Given the description of an element on the screen output the (x, y) to click on. 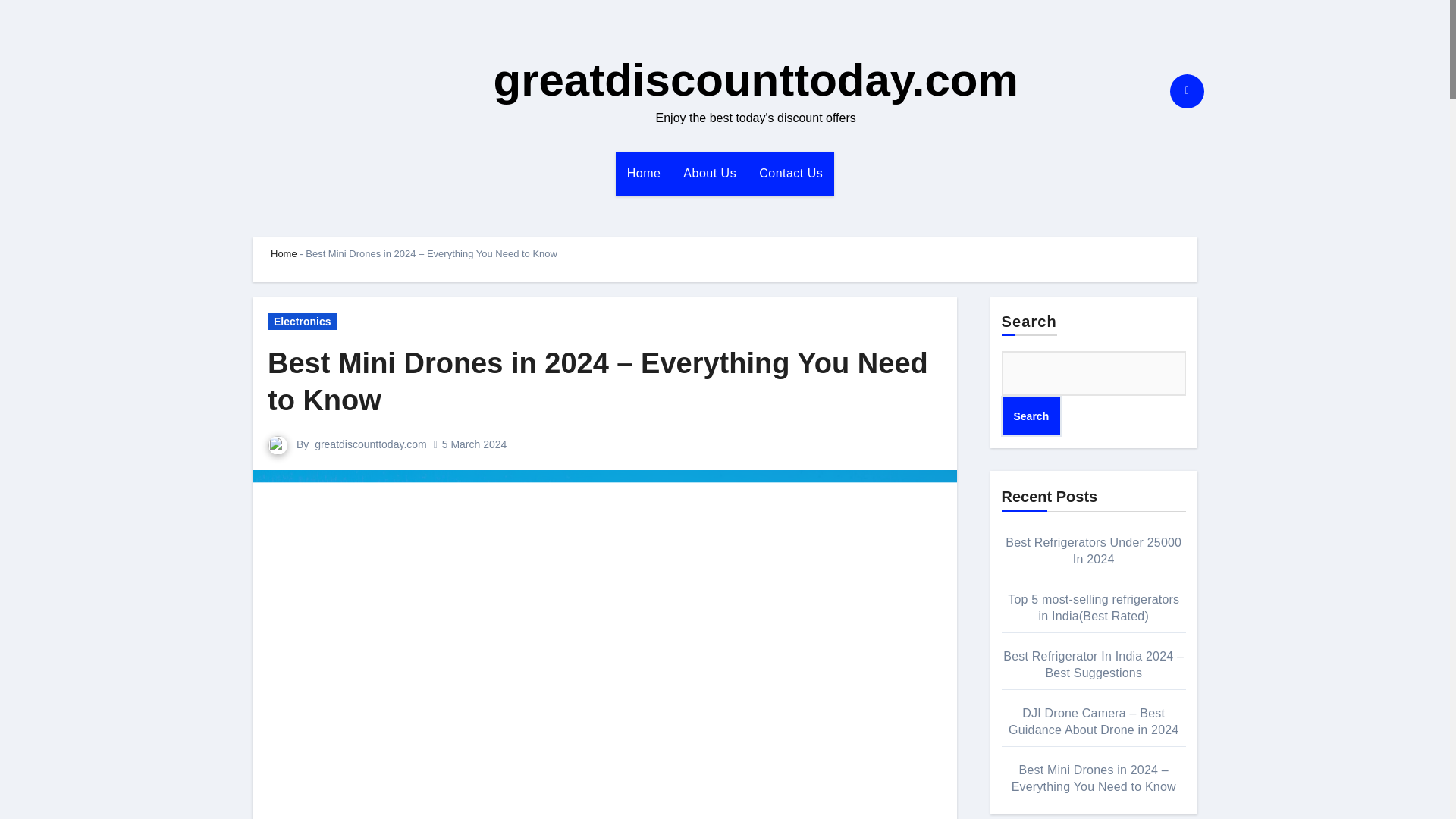
Home (283, 253)
5 March 2024 (474, 444)
Home (643, 173)
Electronics (301, 321)
greatdiscounttoday.com (370, 444)
Home (643, 173)
Contact Us (791, 173)
greatdiscounttoday.com (755, 79)
About Us (709, 173)
